Given the description of an element on the screen output the (x, y) to click on. 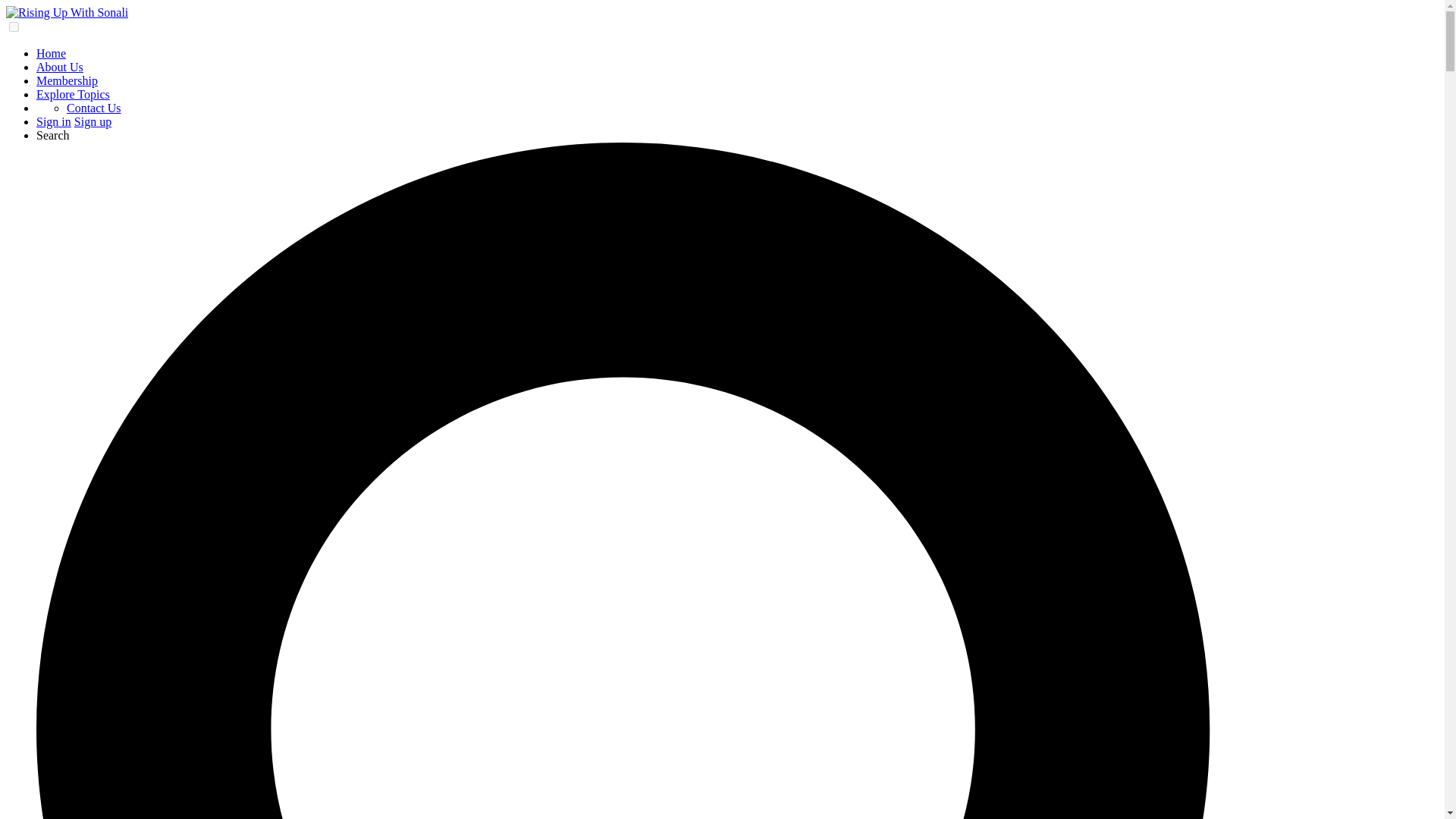
Sign in (53, 121)
Contact Us (93, 107)
on (13, 26)
Explore Topics (73, 93)
About Us (59, 66)
Home (50, 52)
Membership (66, 80)
Sign up (93, 121)
